Given the description of an element on the screen output the (x, y) to click on. 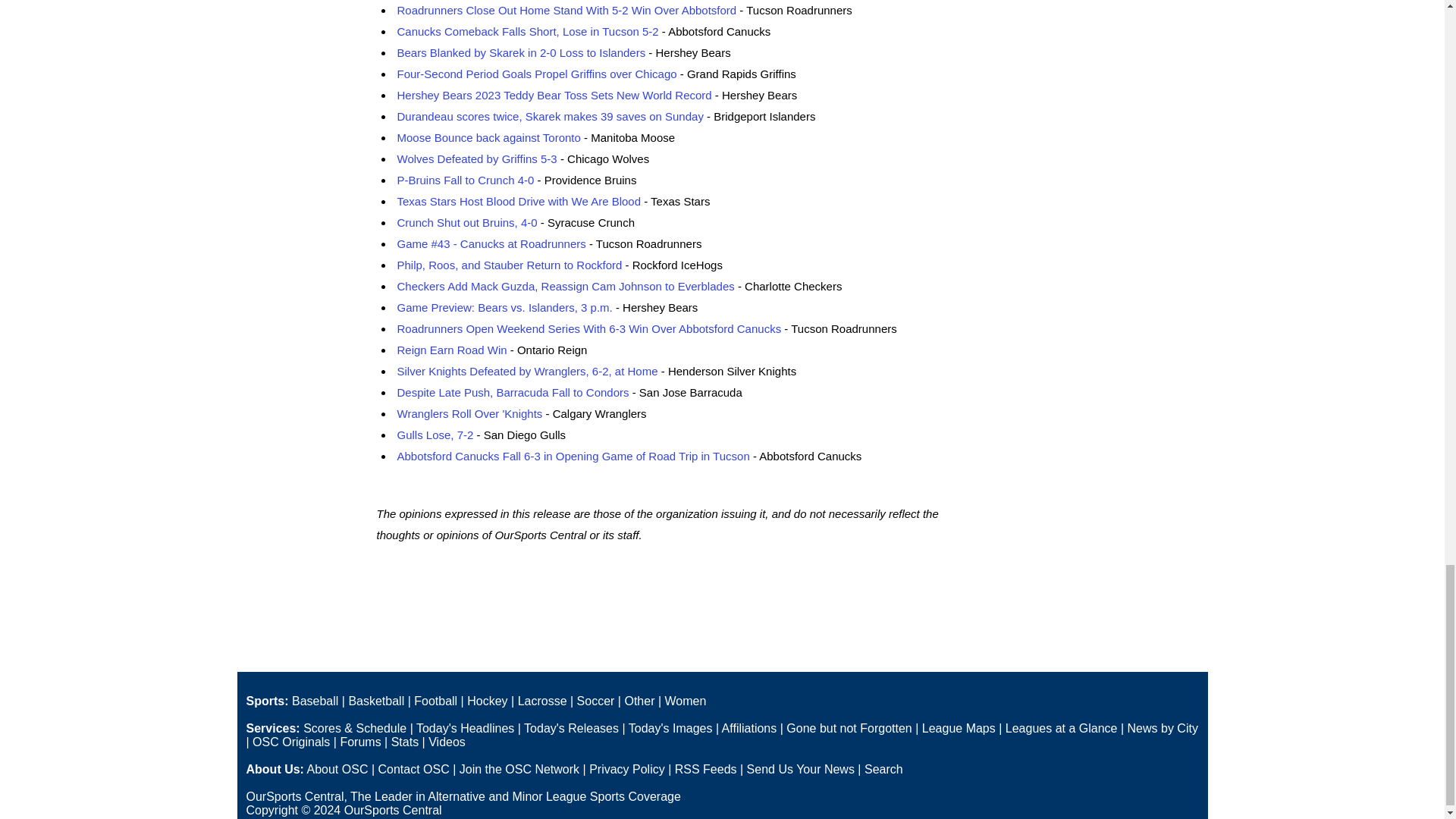
Gone but not Forgotten (848, 727)
News by City (1162, 727)
Today's Releases (571, 727)
Today's Headlines (464, 727)
Today's Images (670, 727)
League Maps (958, 727)
Leagues at a Glance (1062, 727)
Affiliations (749, 727)
